Given the description of an element on the screen output the (x, y) to click on. 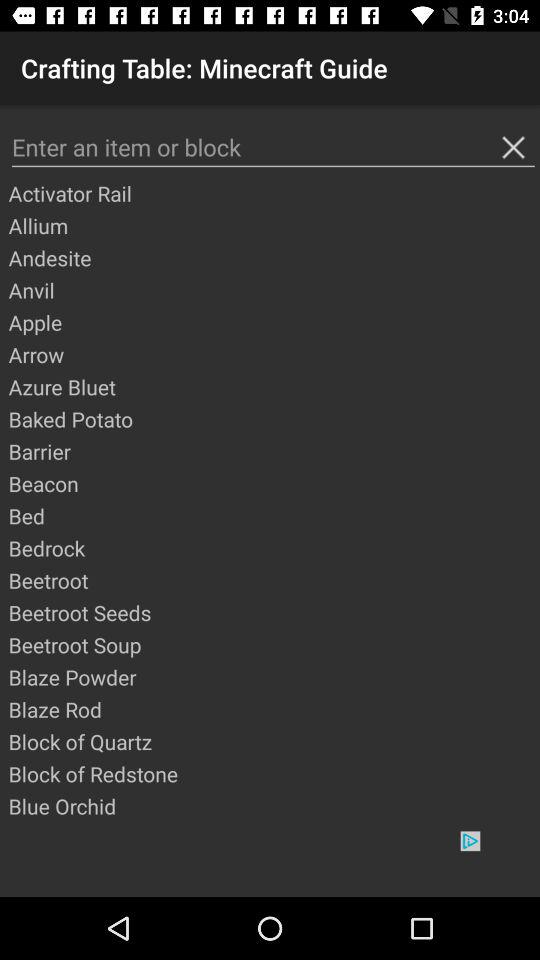
flip until the blaze rod app (273, 709)
